Given the description of an element on the screen output the (x, y) to click on. 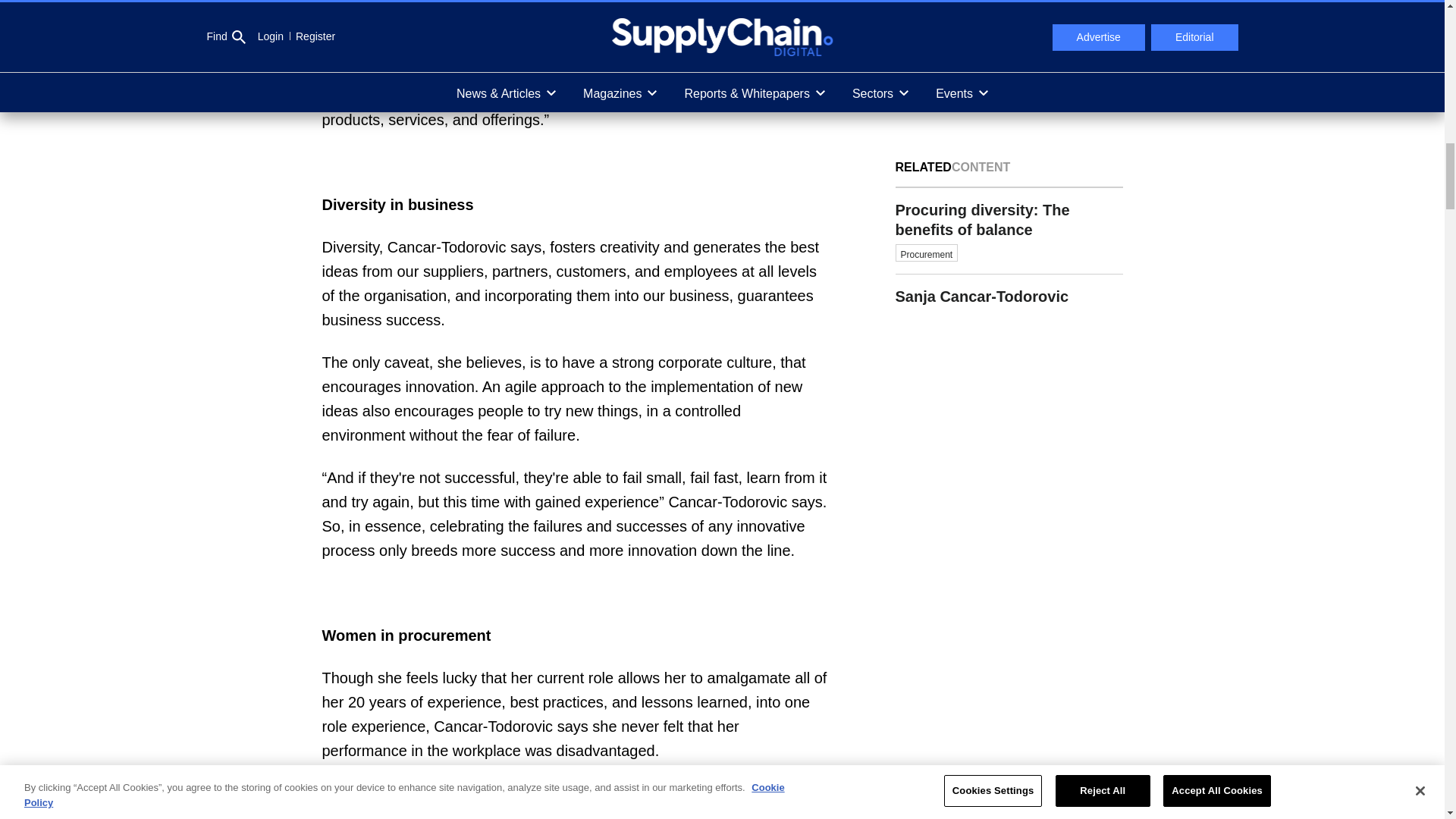
3rd party ad content (1008, 47)
